Given the description of an element on the screen output the (x, y) to click on. 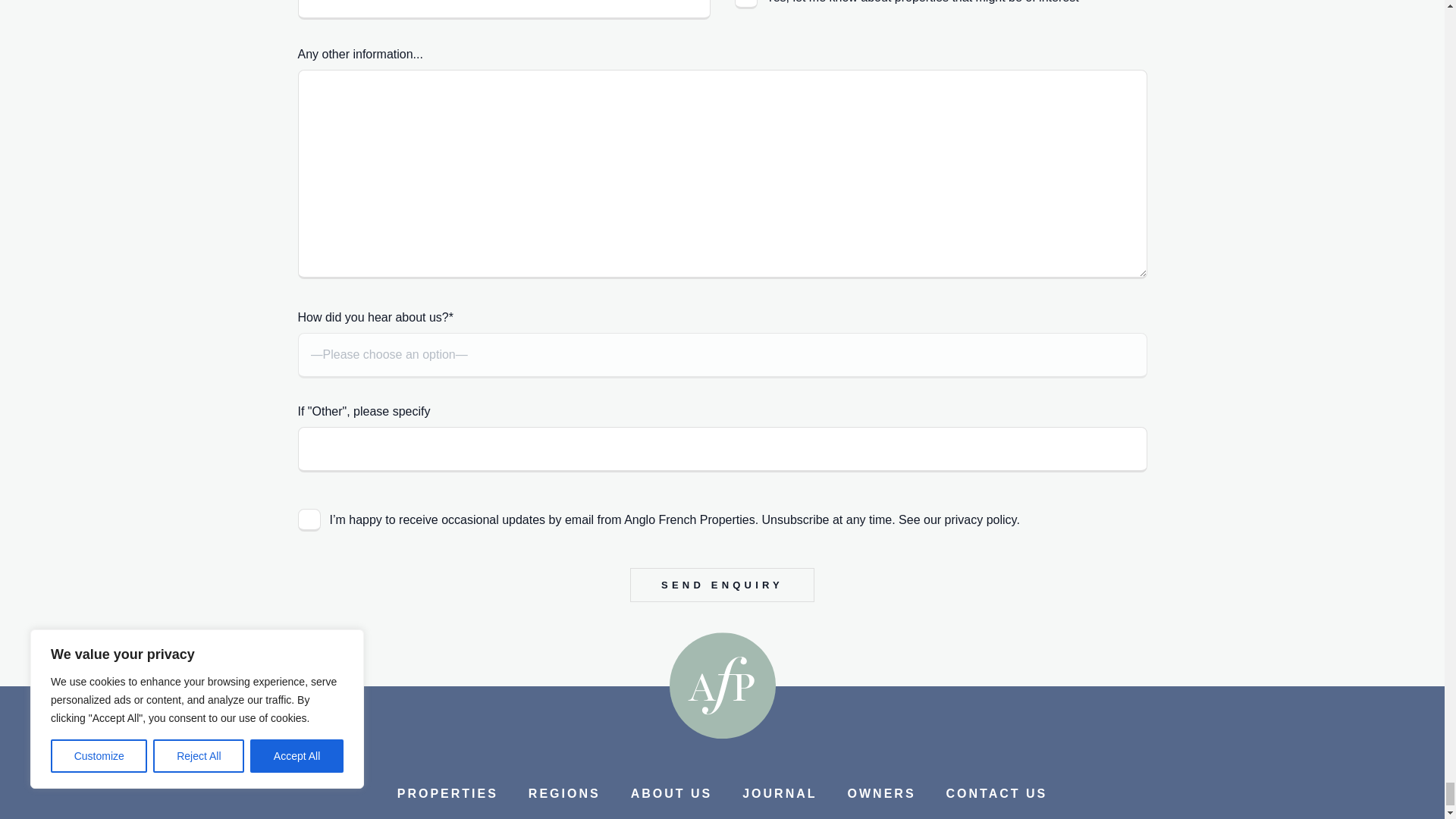
Send Enquiry (721, 584)
Yes, let me know about properties that might be of interest (745, 4)
